Given the description of an element on the screen output the (x, y) to click on. 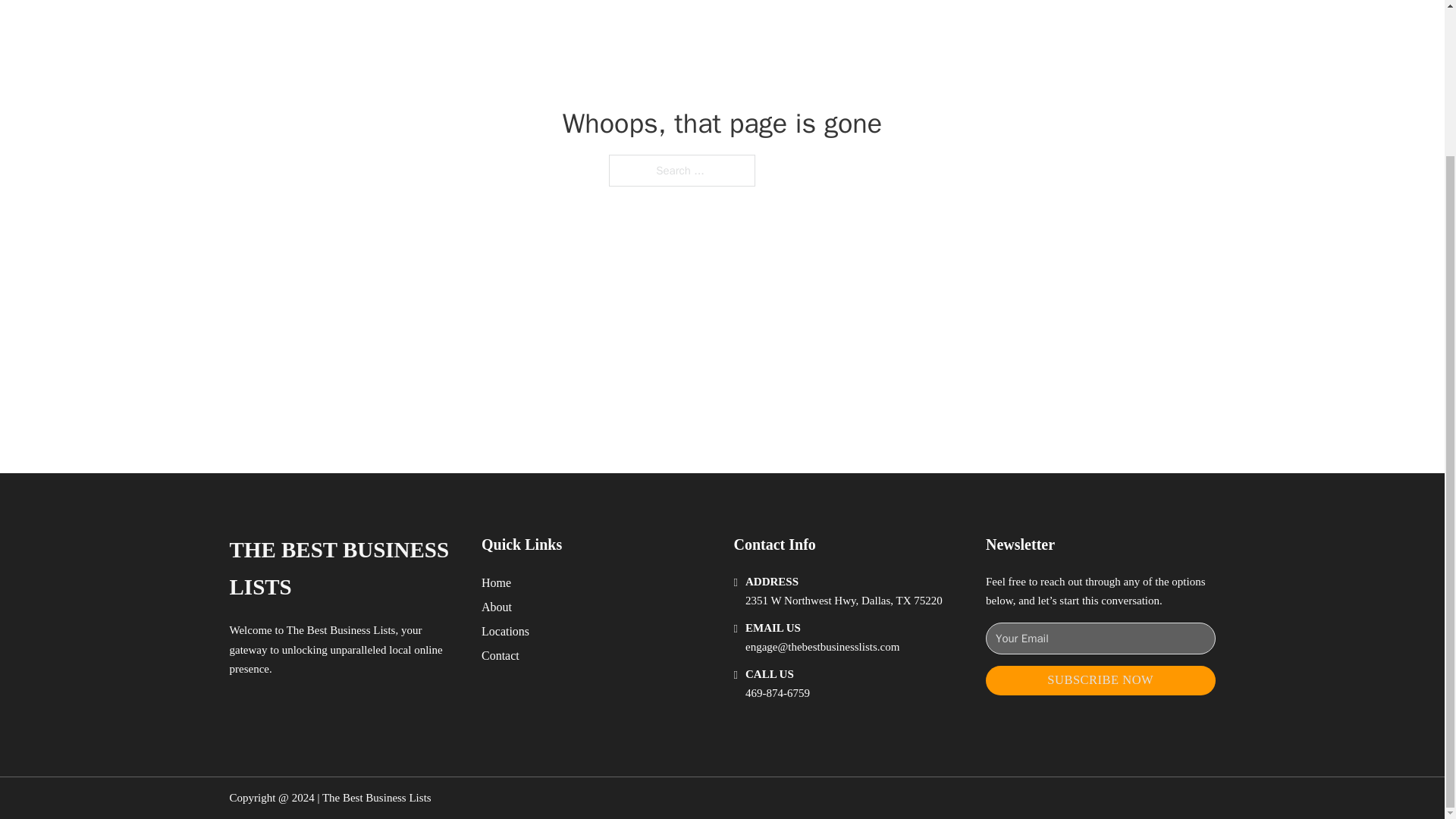
SUBSCRIBE NOW (1100, 680)
THE BEST BUSINESS LISTS (343, 568)
469-874-6759 (777, 693)
About (496, 607)
Contact (500, 655)
Locations (505, 630)
Home (496, 582)
